Given the description of an element on the screen output the (x, y) to click on. 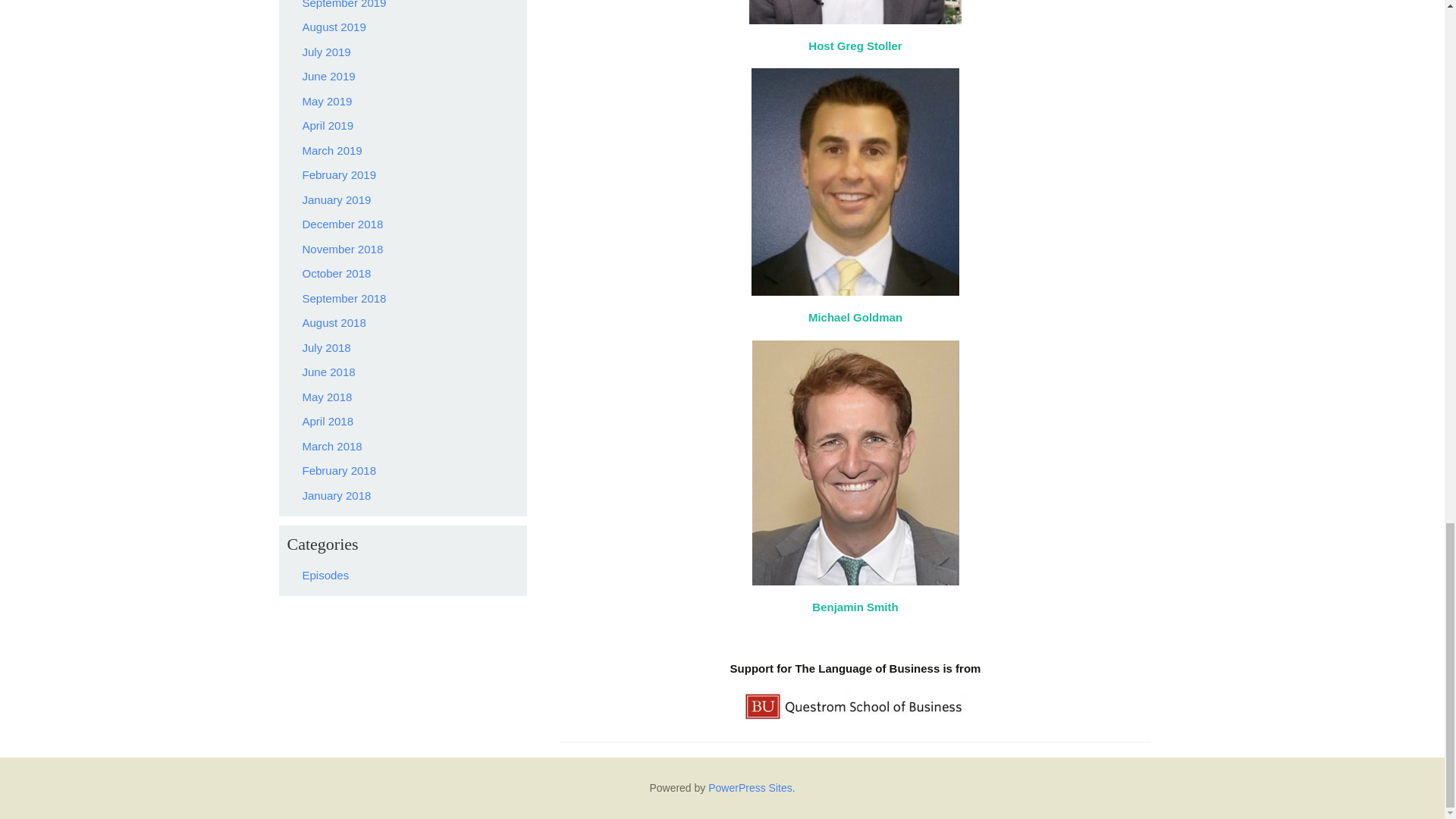
Michael Goldman (855, 317)
Benjamin Smith (855, 606)
Host Greg Stoller (854, 45)
